Given the description of an element on the screen output the (x, y) to click on. 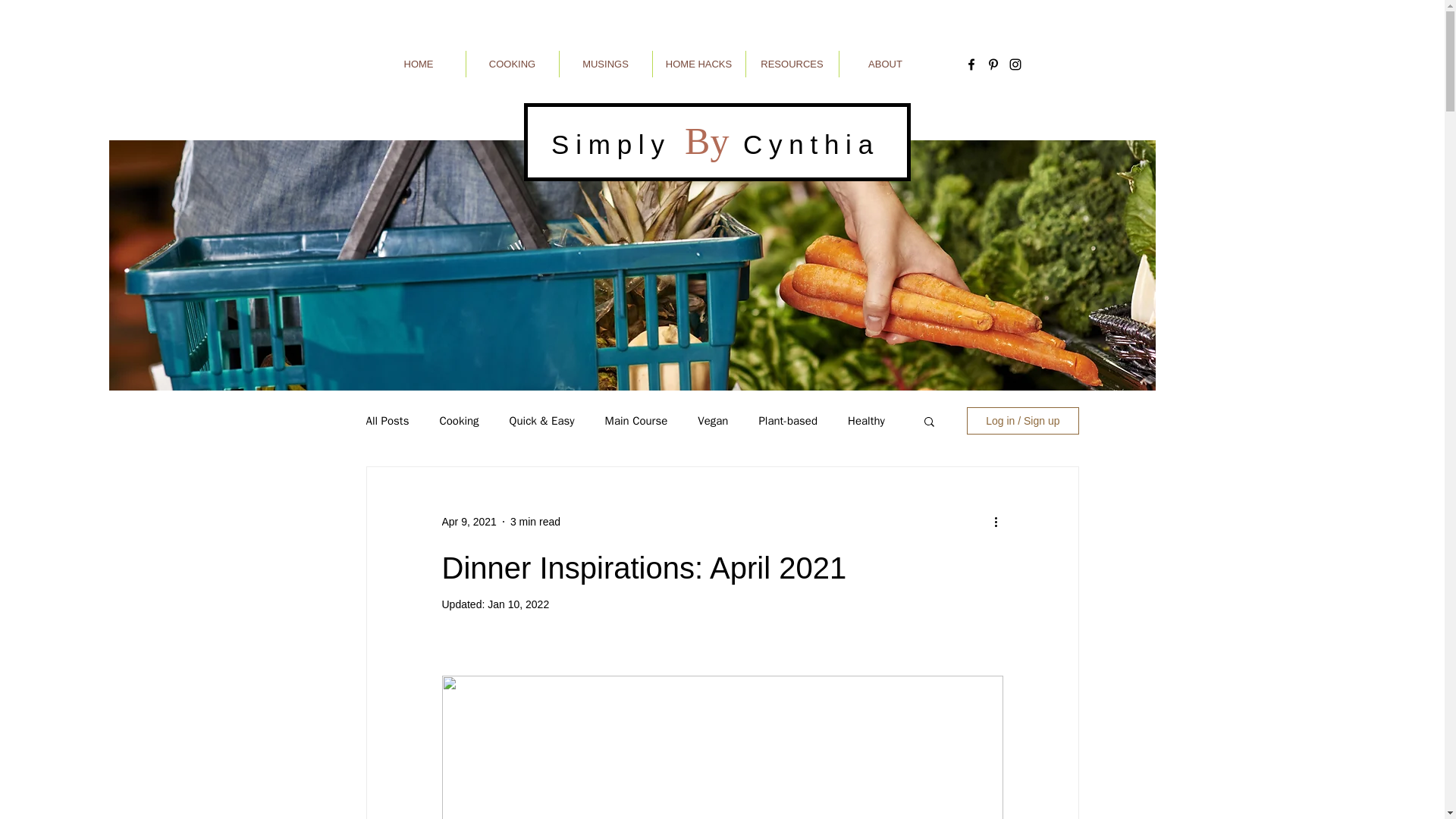
COOKING (511, 63)
HOME HACKS (698, 63)
Apr 9, 2021 (468, 521)
Plant-based (787, 421)
Cynthia (804, 143)
MUSINGS (605, 63)
Healthy (866, 421)
3 min read (535, 521)
Cooking (459, 421)
Main Course (636, 421)
By (706, 140)
Vegan (712, 421)
ABOUT (884, 63)
HOME (417, 63)
Simply (617, 143)
